Given the description of an element on the screen output the (x, y) to click on. 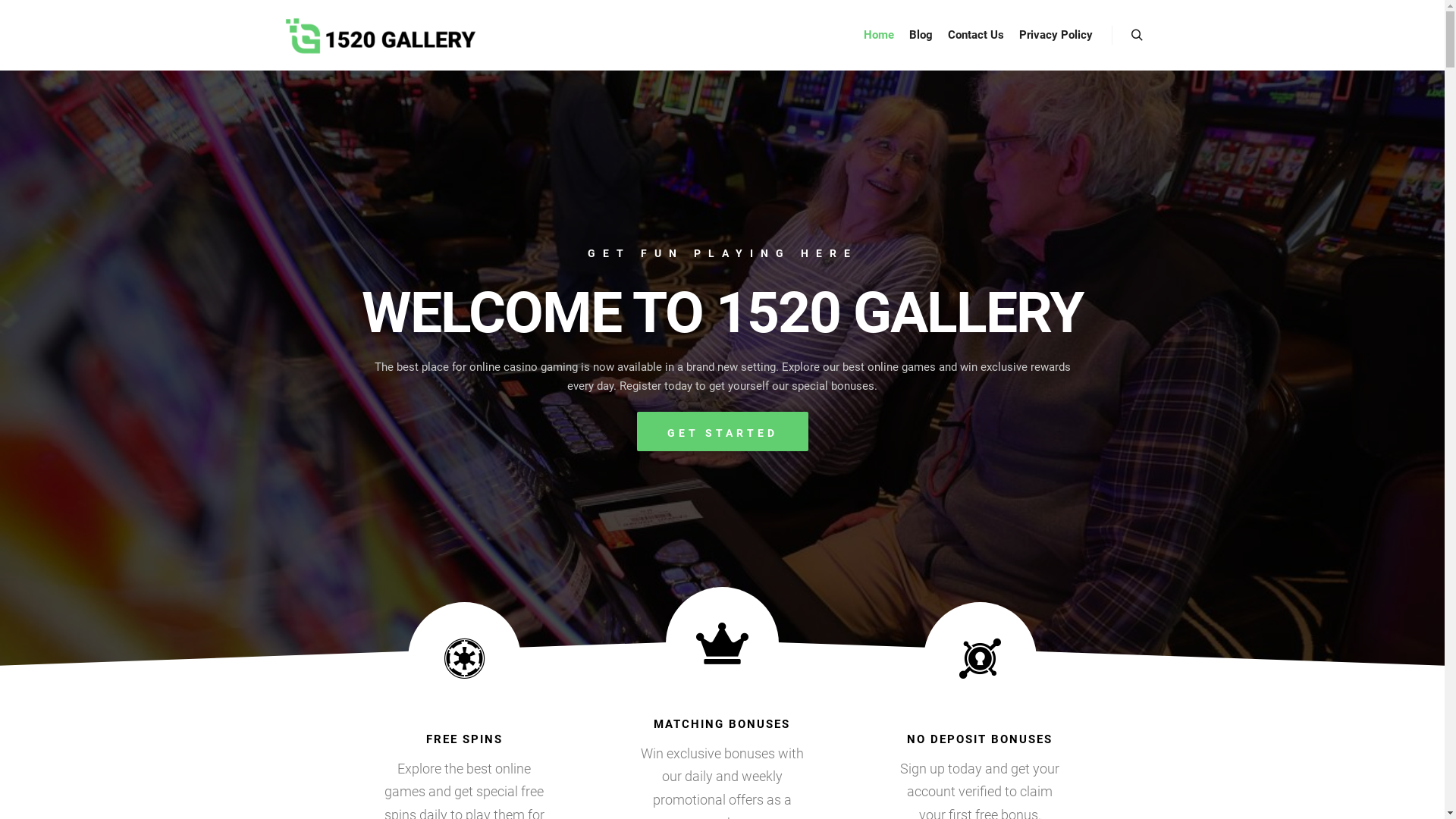
Blog Element type: text (919, 35)
Privacy Policy Element type: text (1055, 35)
Search Element type: hover (1137, 35)
Home Element type: text (877, 35)
GET STARTED Element type: text (722, 431)
1520 Gallery Element type: hover (379, 35)
Contact Us Element type: text (975, 35)
